Given the description of an element on the screen output the (x, y) to click on. 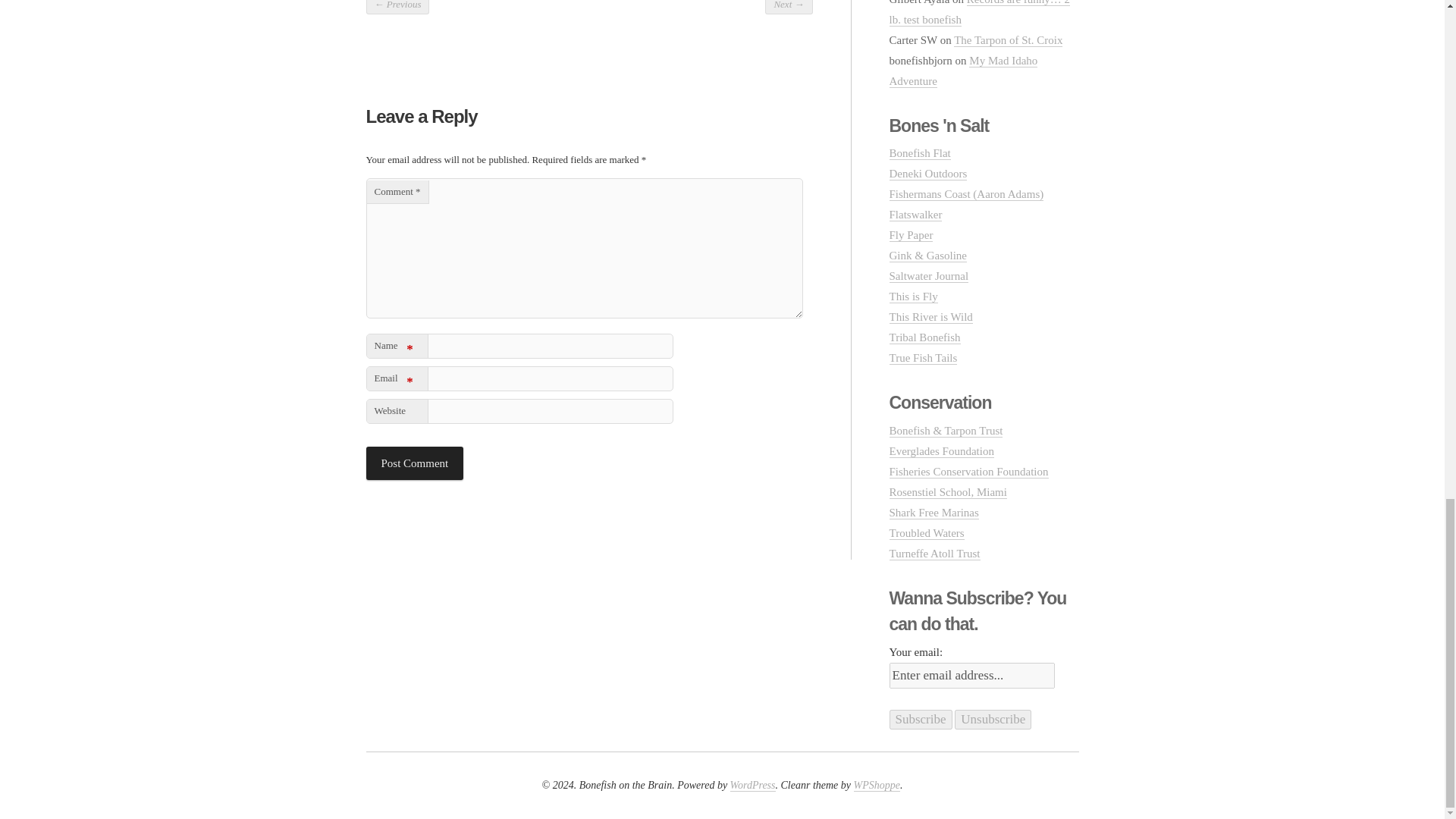
Enter email address... (971, 675)
Unsubscribe (992, 719)
Subscribe (920, 719)
Post Comment (414, 462)
